Given the description of an element on the screen output the (x, y) to click on. 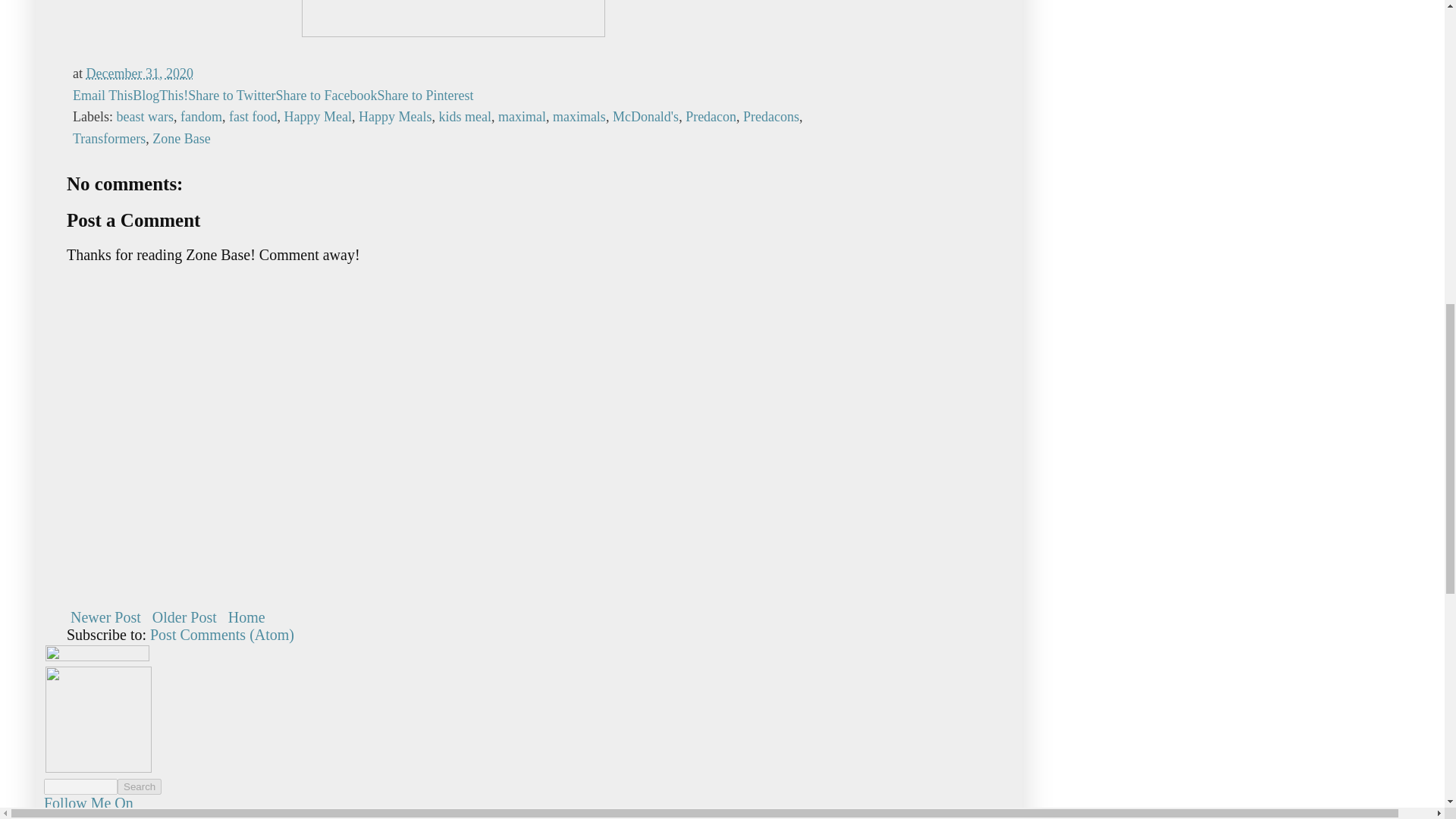
BlogThis! (159, 95)
Share to Pinterest (425, 95)
Follow Me On Instagram! (88, 806)
December 31, 2020 (139, 73)
Share to Pinterest (425, 95)
Zone Base (180, 138)
permanent link (139, 73)
Home (246, 617)
Share to Facebook (326, 95)
BlogThis! (159, 95)
Newer Post (105, 617)
fandom (201, 116)
search (139, 786)
Search (139, 786)
Email This (102, 95)
